Given the description of an element on the screen output the (x, y) to click on. 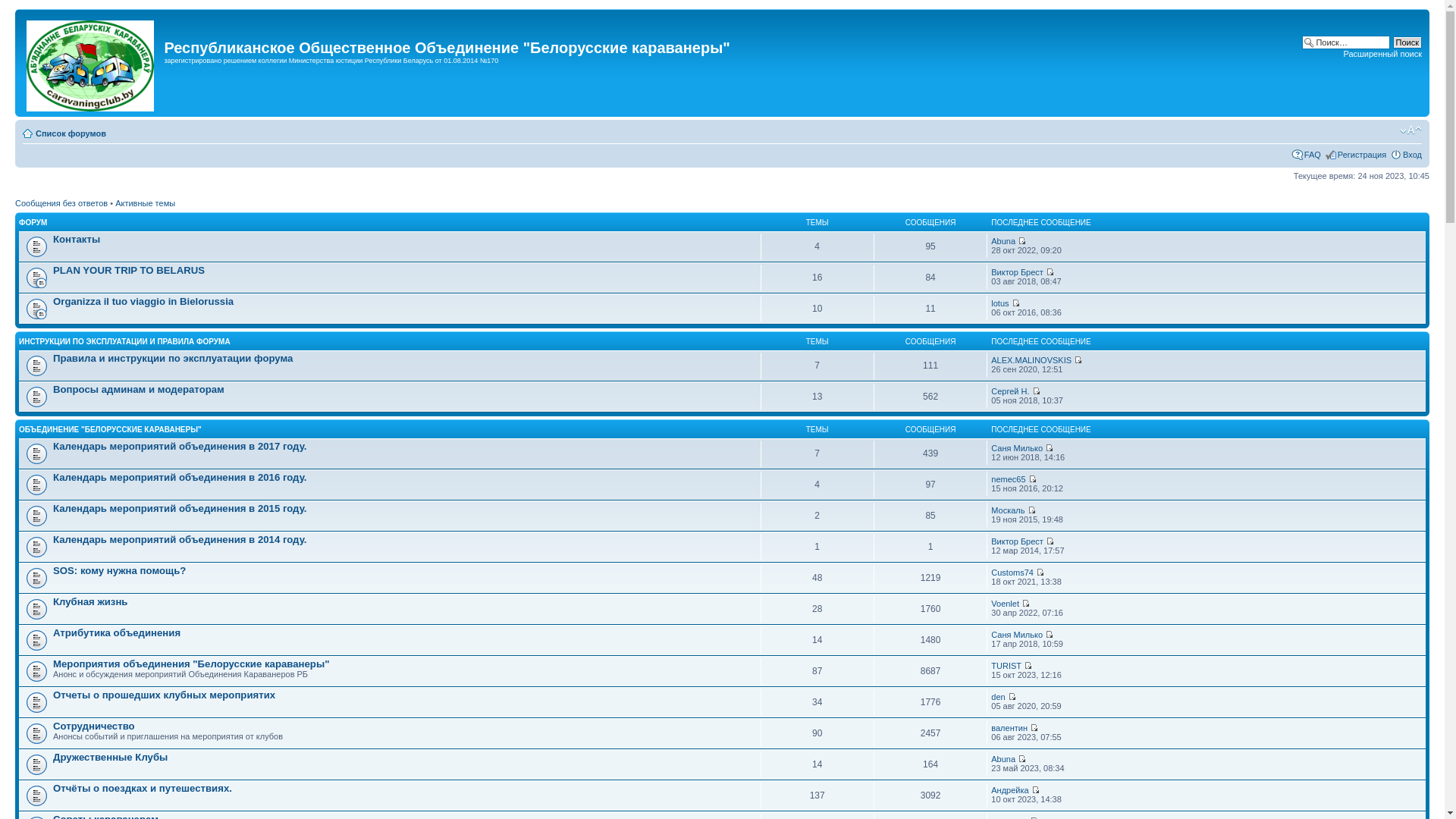
PLAN YOUR TRIP TO BELARUS Element type: text (128, 270)
Customs74 Element type: text (1012, 572)
ALEX.MALINOVSKIS Element type: text (1031, 359)
Voenlet Element type: text (1005, 603)
Abuna Element type: text (1003, 240)
Abuna Element type: text (1003, 758)
FAQ Element type: text (1312, 154)
lotus Element type: text (999, 302)
nemec65 Element type: text (1008, 478)
den Element type: text (997, 696)
TURIST Element type: text (1006, 665)
Organizza il tuo viaggio in Bielorussia Element type: text (143, 301)
